Given the description of an element on the screen output the (x, y) to click on. 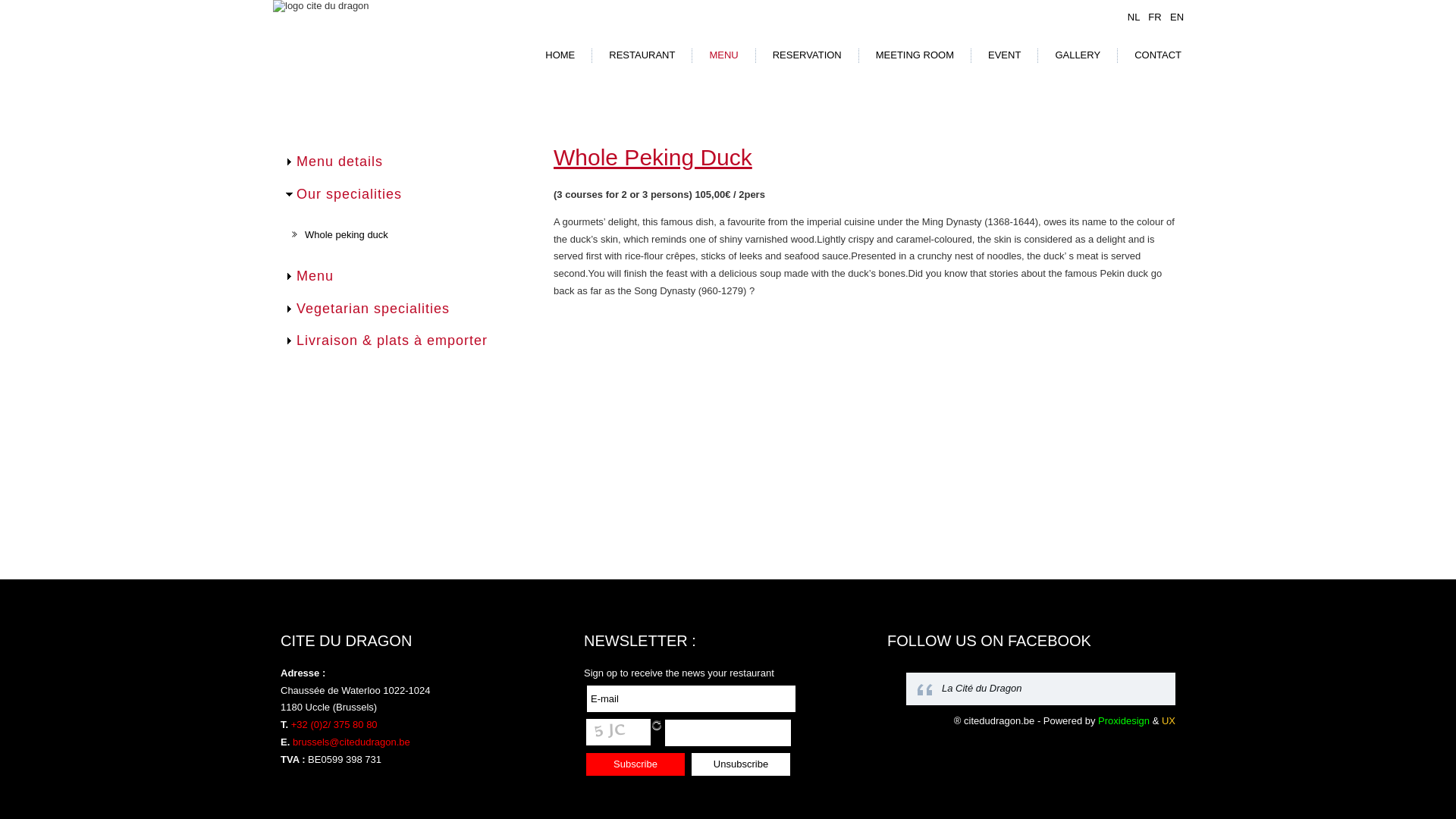
HOME Element type: text (559, 55)
Menu details Element type: text (339, 161)
Menu Element type: text (314, 275)
GALLERY Element type: text (1077, 55)
E-mail Element type: hover (691, 698)
MEETING ROOM Element type: text (914, 55)
EVENT Element type: text (1004, 55)
+32 (0)2/ 375 80 80 Element type: text (334, 724)
Subscribe Element type: text (635, 763)
  Element type: text (656, 724)
The captcha is invalid, please try again Element type: hover (727, 732)
Vegetarian specialities Element type: text (372, 308)
RESERVATION Element type: text (806, 55)
CONTACT Element type: text (1157, 55)
Unsubscribe Element type: text (740, 763)
Whole peking duck Element type: text (346, 234)
MENU Element type: text (723, 55)
The captcha is invalid, please try again Element type: hover (618, 731)
RESTAURANT Element type: text (641, 55)
EN Element type: text (1176, 16)
Our specialities Element type: text (348, 193)
citedudragon.be Element type: text (998, 719)
FR Element type: text (1156, 16)
Proxidesign Element type: text (1123, 719)
UX Element type: text (1168, 719)
NL Element type: text (1134, 16)
brussels@citedudragon.be Element type: text (351, 741)
